Given the description of an element on the screen output the (x, y) to click on. 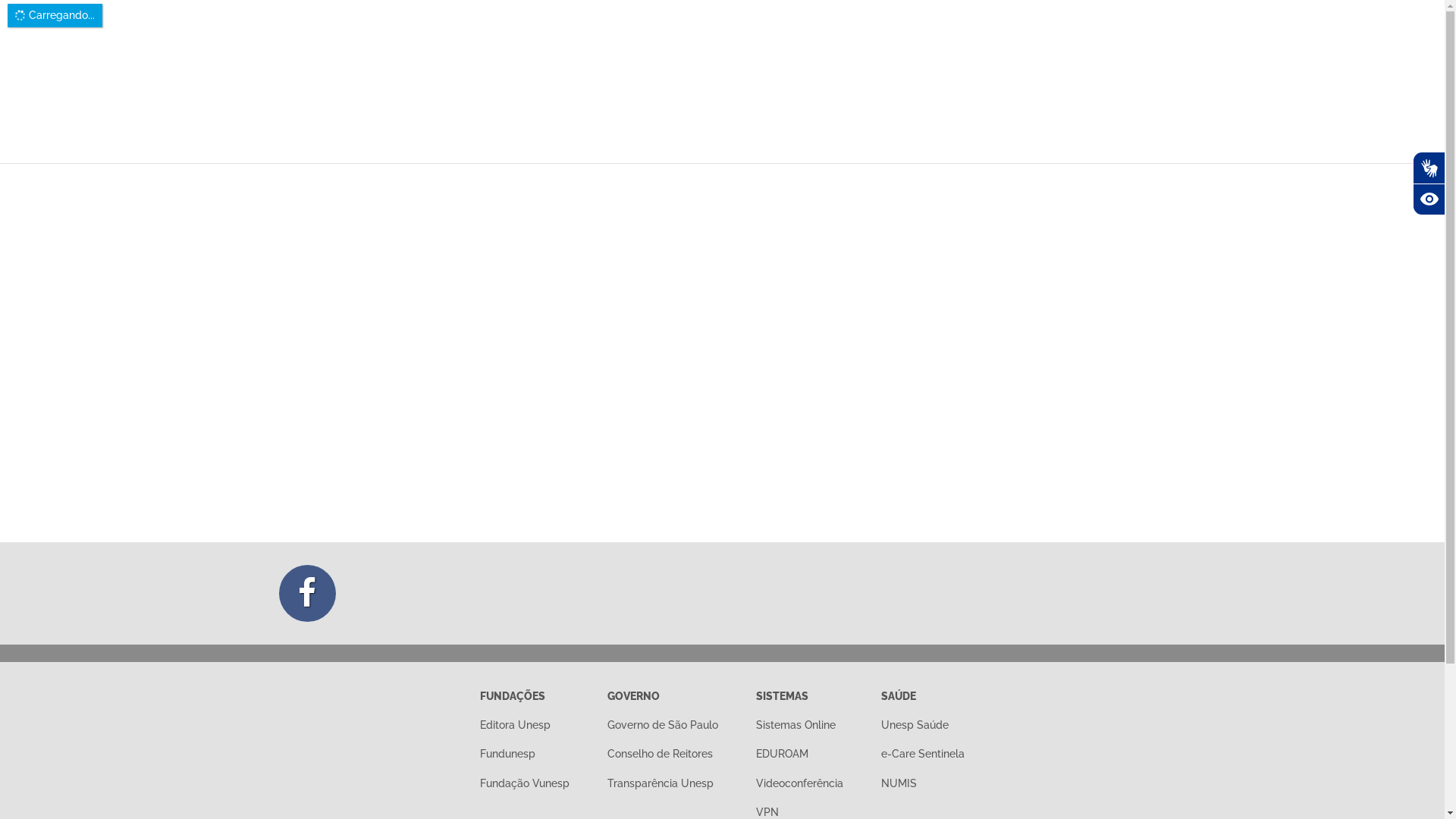
VPN Element type: text (767, 812)
e-Care Sentinela Element type: text (922, 753)
Sistemas Online Element type: text (795, 724)
EDUROAM Element type: text (782, 753)
Conselho de Reitores Element type: text (659, 753)
Editora Unesp Element type: text (515, 724)
IB no Facebook Element type: text (307, 592)
NUMIS Element type: text (898, 783)
Fundunesp Element type: text (507, 753)
